Given the description of an element on the screen output the (x, y) to click on. 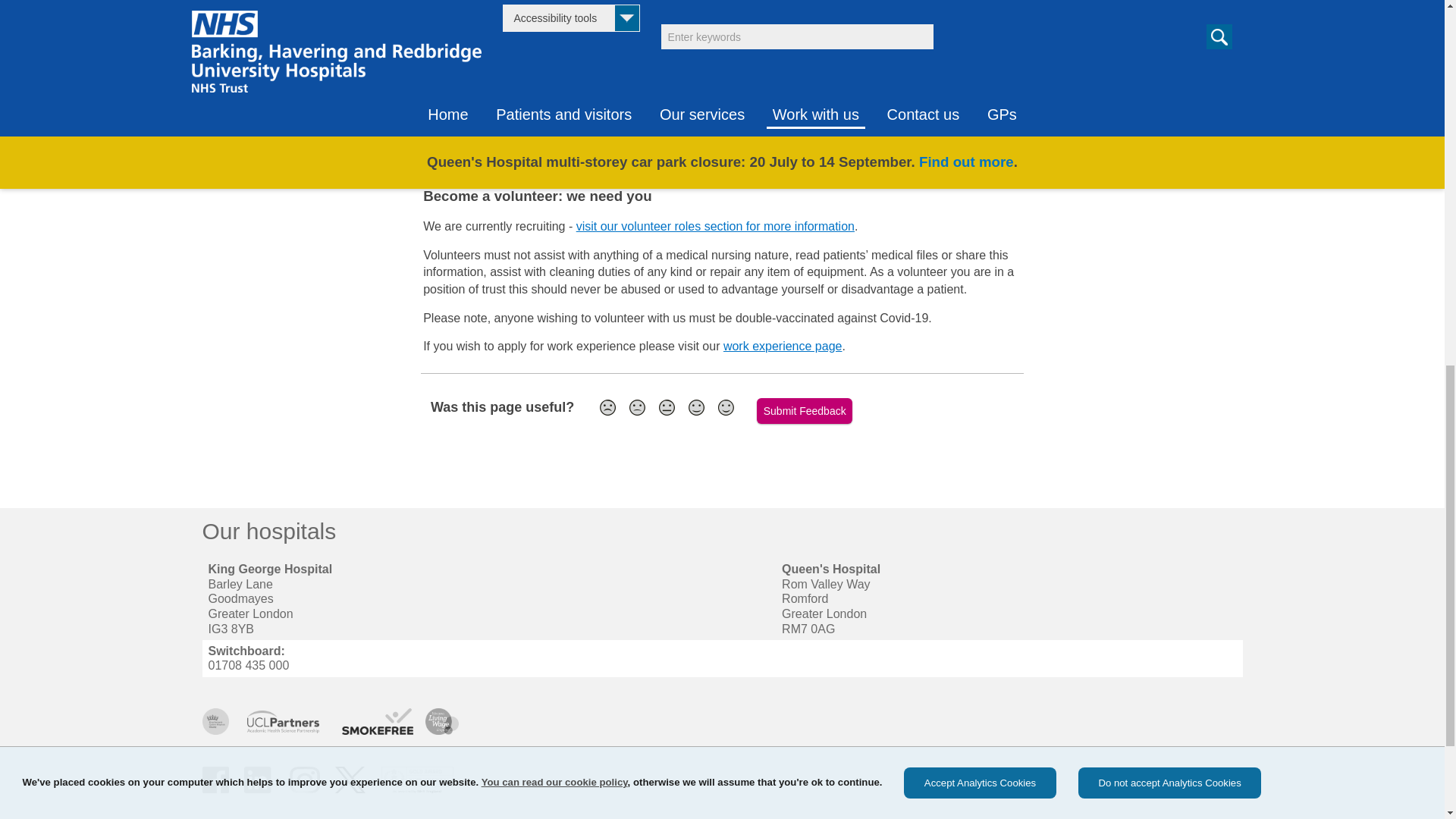
visit our Work Experience page (830, 74)
apply to be a volunteer page (843, 121)
visit our volunteer roles section for more information (715, 226)
Accept Analytics Cookies (979, 20)
Cookies (554, 19)
work experience page (783, 345)
Submit Feedback (804, 410)
Do not accept Analytics Cookies (1169, 20)
Submit Feedback (804, 410)
Visit our 2022 web guide to volunteering at our Trust (587, 159)
